Given the description of an element on the screen output the (x, y) to click on. 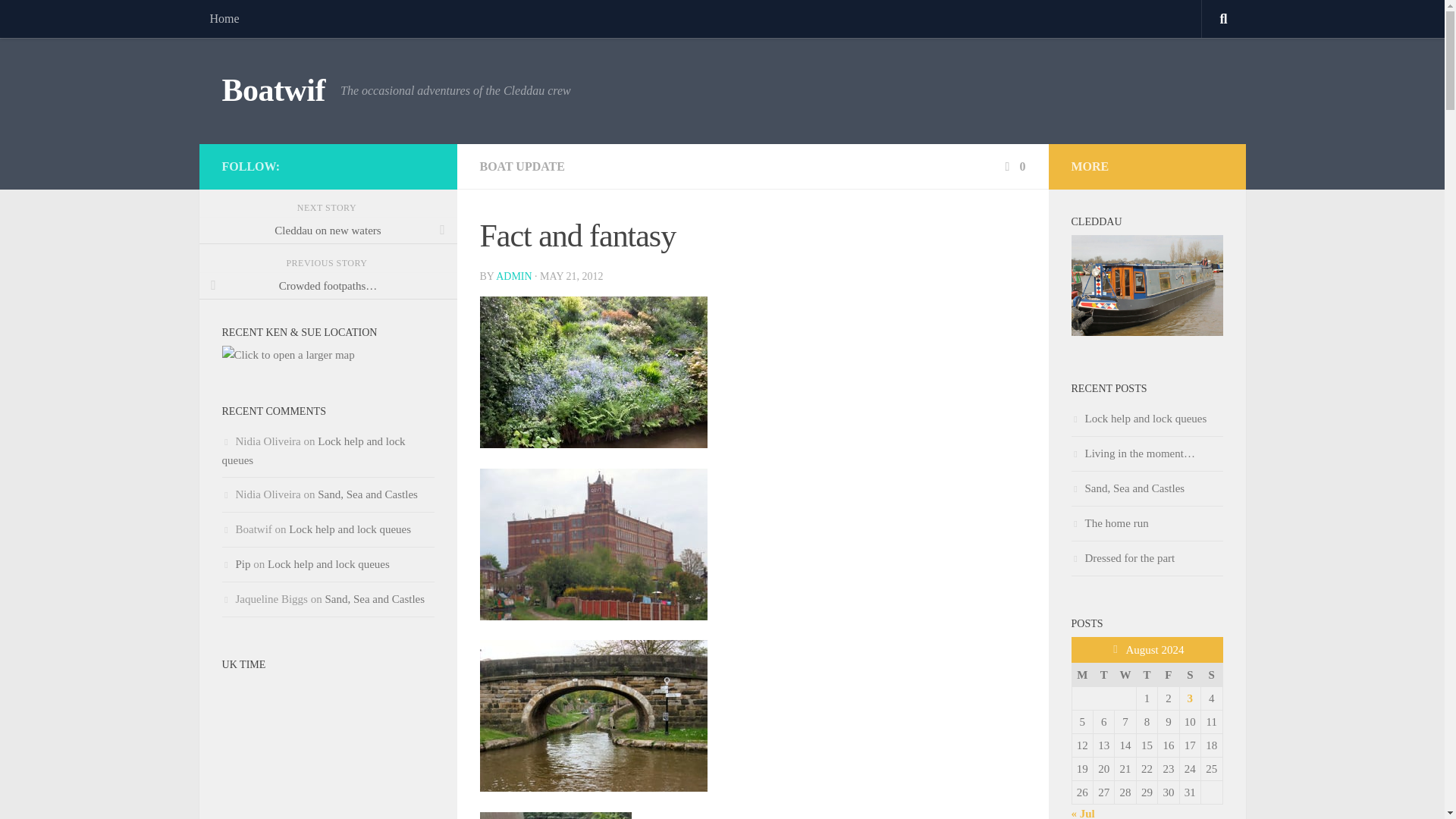
Cleddau on new waters (327, 230)
0 (1013, 165)
Boatwif (272, 90)
Posts by admin (513, 276)
ADMIN (513, 276)
BOAT UPDATE (521, 165)
Skip to content (59, 20)
Home (223, 18)
